Given the description of an element on the screen output the (x, y) to click on. 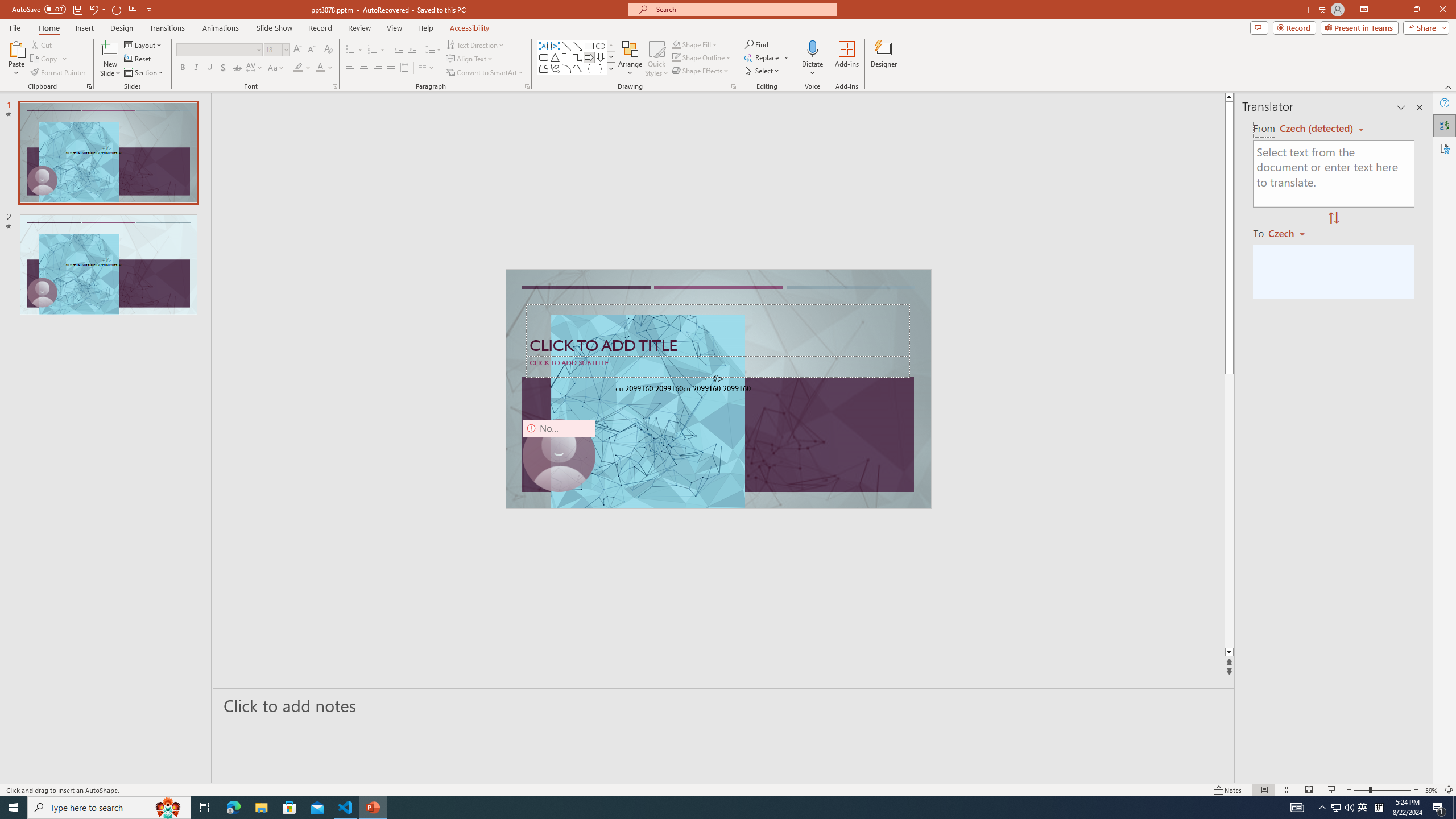
An abstract genetic concept (718, 388)
Subtitle TextBox (717, 366)
Shape Fill Dark Green, Accent 2 (675, 44)
Shape Outline Green, Accent 1 (675, 56)
